Given the description of an element on the screen output the (x, y) to click on. 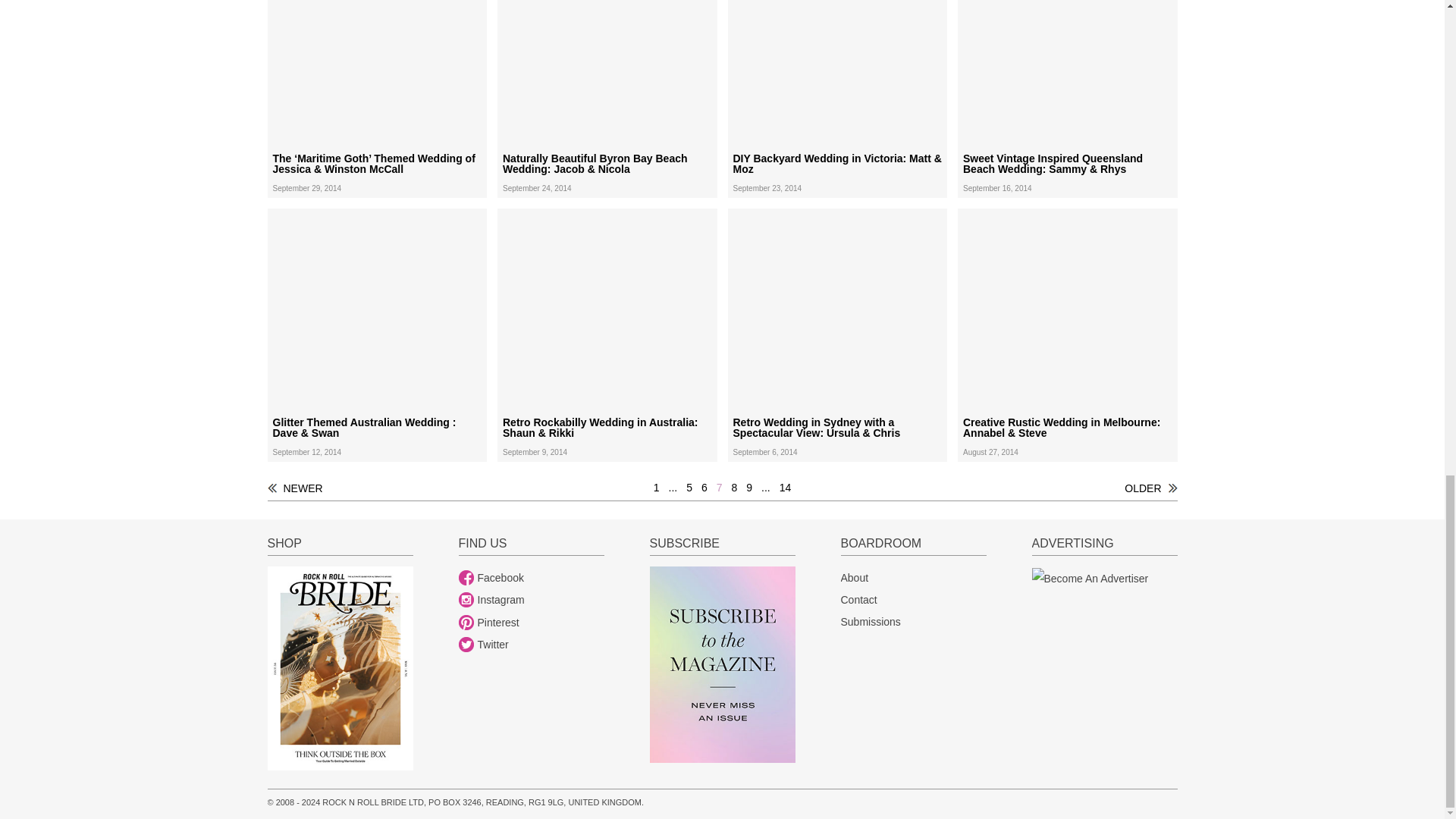
Advertising Information (1089, 577)
